Given the description of an element on the screen output the (x, y) to click on. 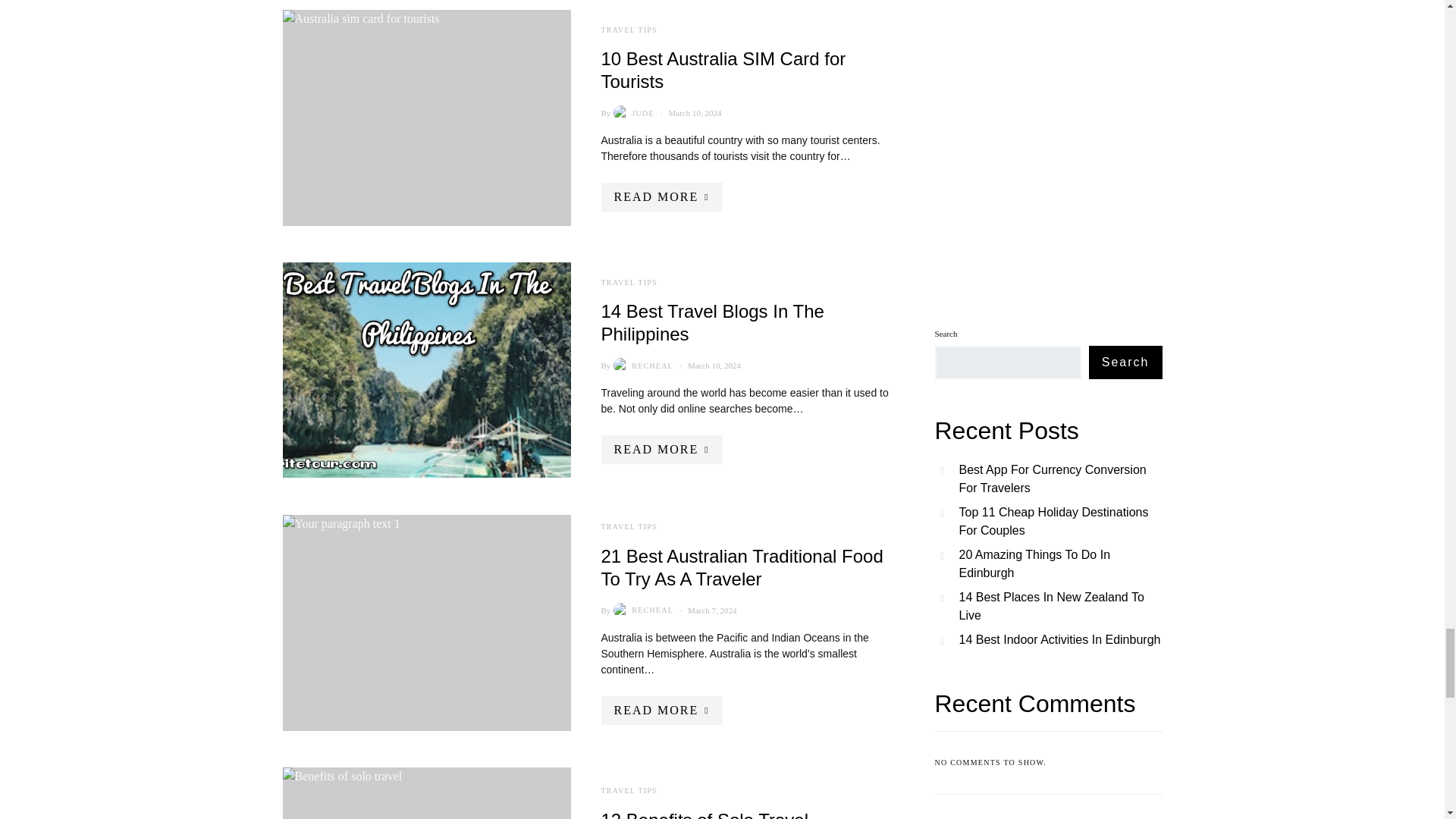
14 Best Travel Blogs In The Philippines 7 (426, 370)
View all posts by Recheal (641, 365)
10 Best Australia Sim Card For Tourists 6 (426, 117)
View all posts by Recheal (641, 610)
21 Best Australian Traditional Food To Try As A Traveler 8 (426, 622)
View all posts by Jude (631, 112)
12 Benefits Of Solo Travel 9 (426, 793)
